Given the description of an element on the screen output the (x, y) to click on. 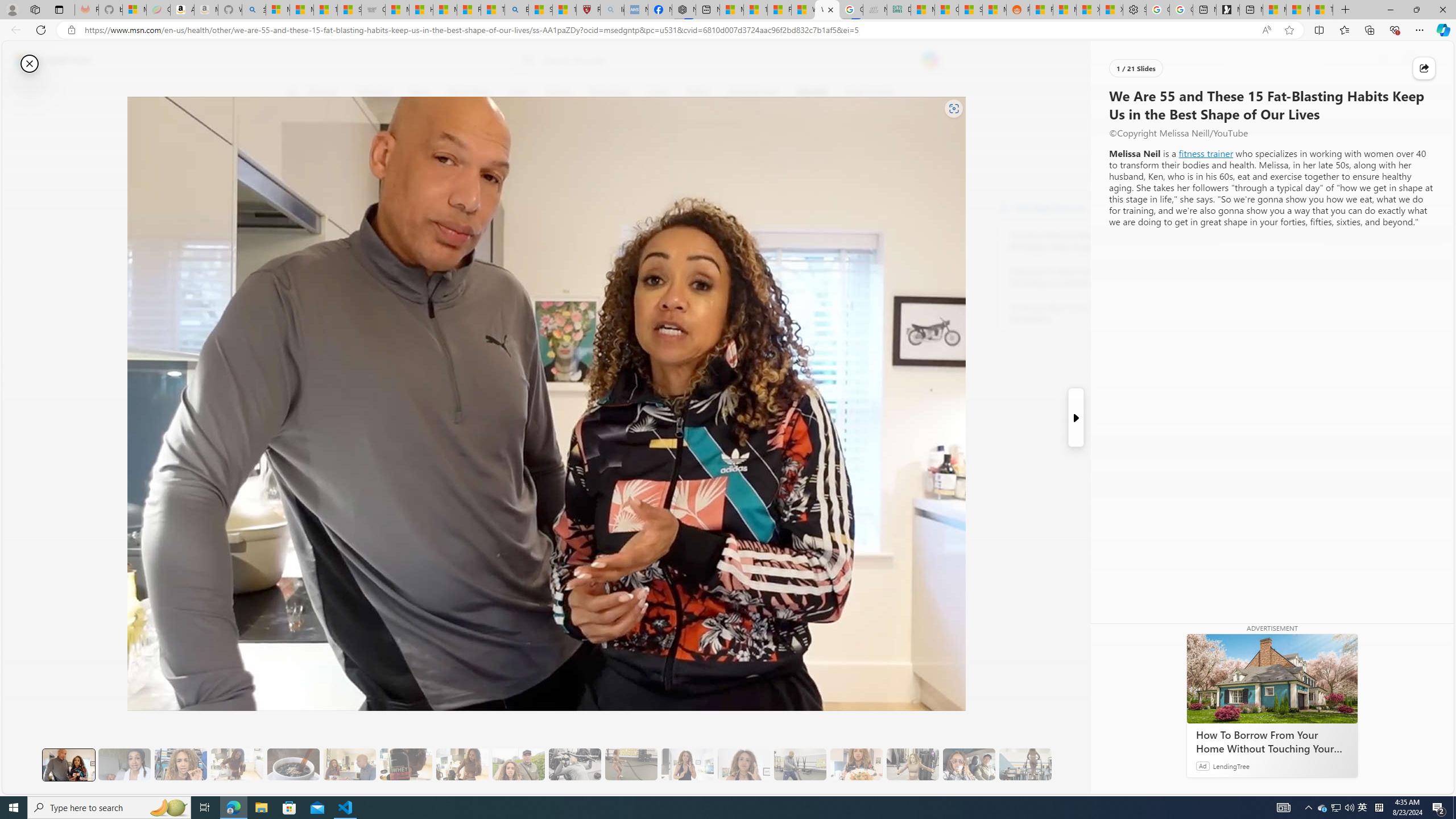
Technology (608, 92)
Visit Body Network website (1145, 207)
6 Since Eating More Protein Her Training Has Improved (406, 764)
Entertainment (753, 92)
Food & Drink (869, 92)
